Given the description of an element on the screen output the (x, y) to click on. 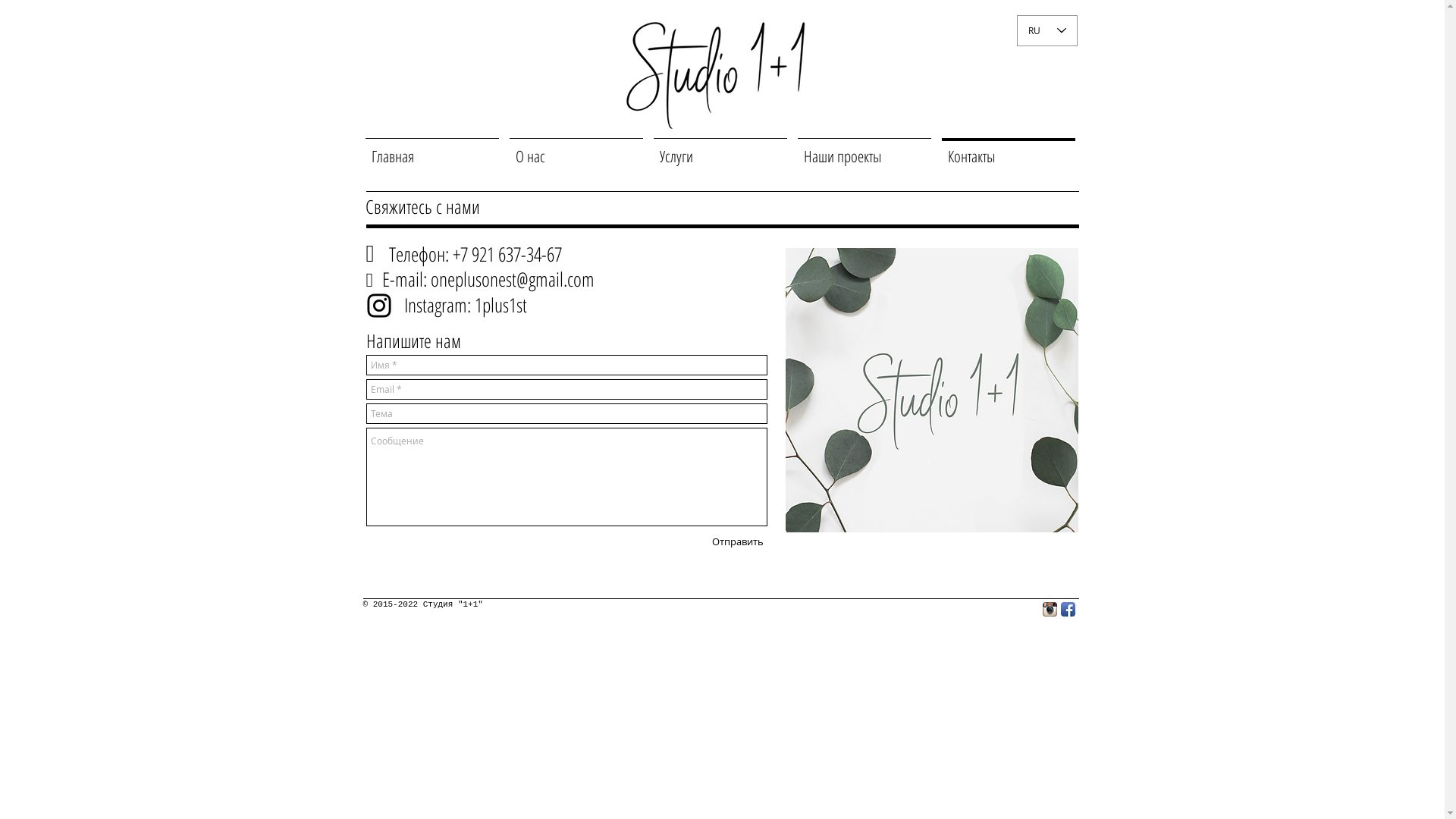
oneplusonest@gmail.com Element type: text (512, 278)
